Given the description of an element on the screen output the (x, y) to click on. 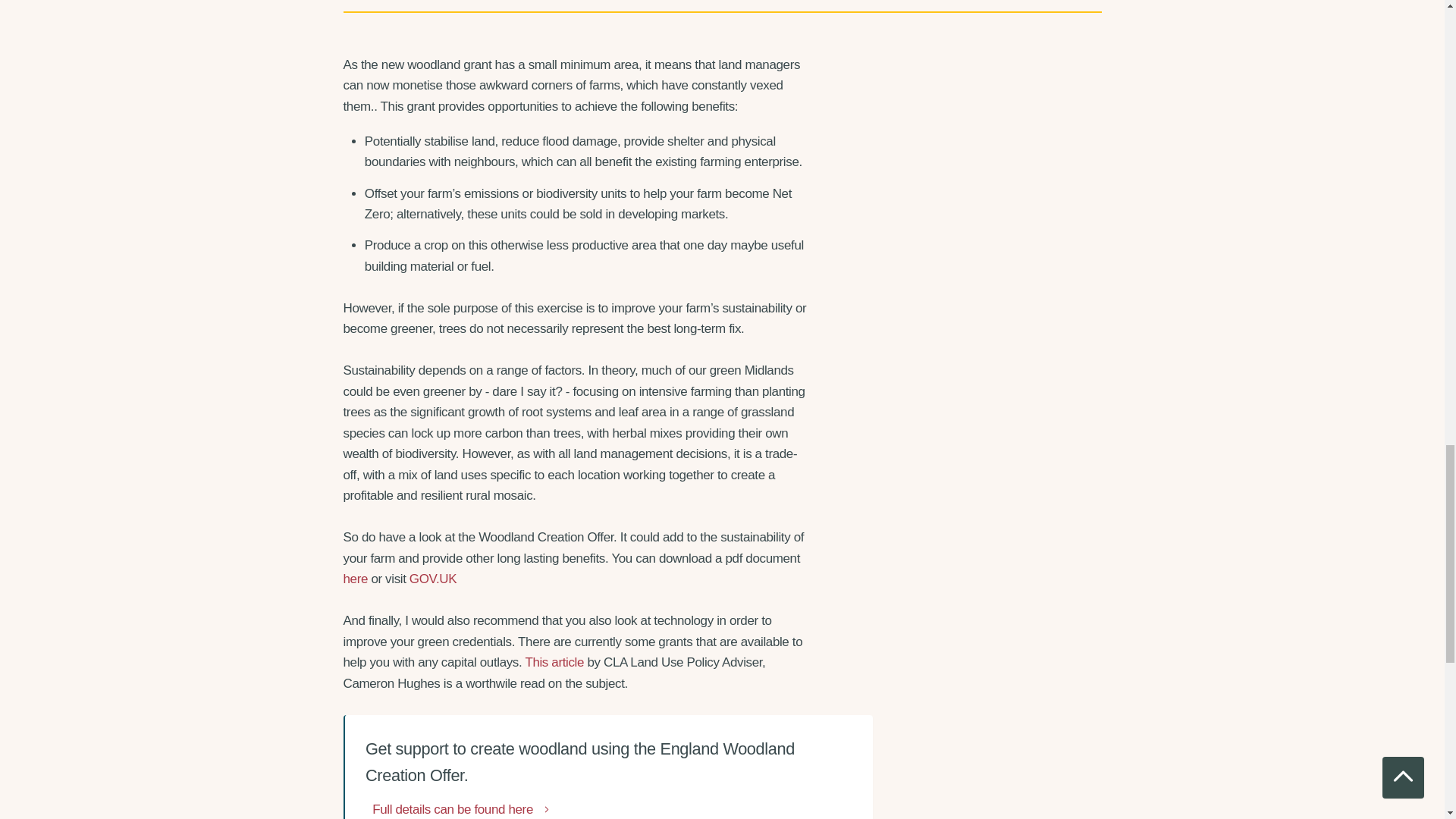
here (355, 578)
This article (553, 662)
GOV.UK (433, 578)
Full details can be found here (462, 809)
